Given the description of an element on the screen output the (x, y) to click on. 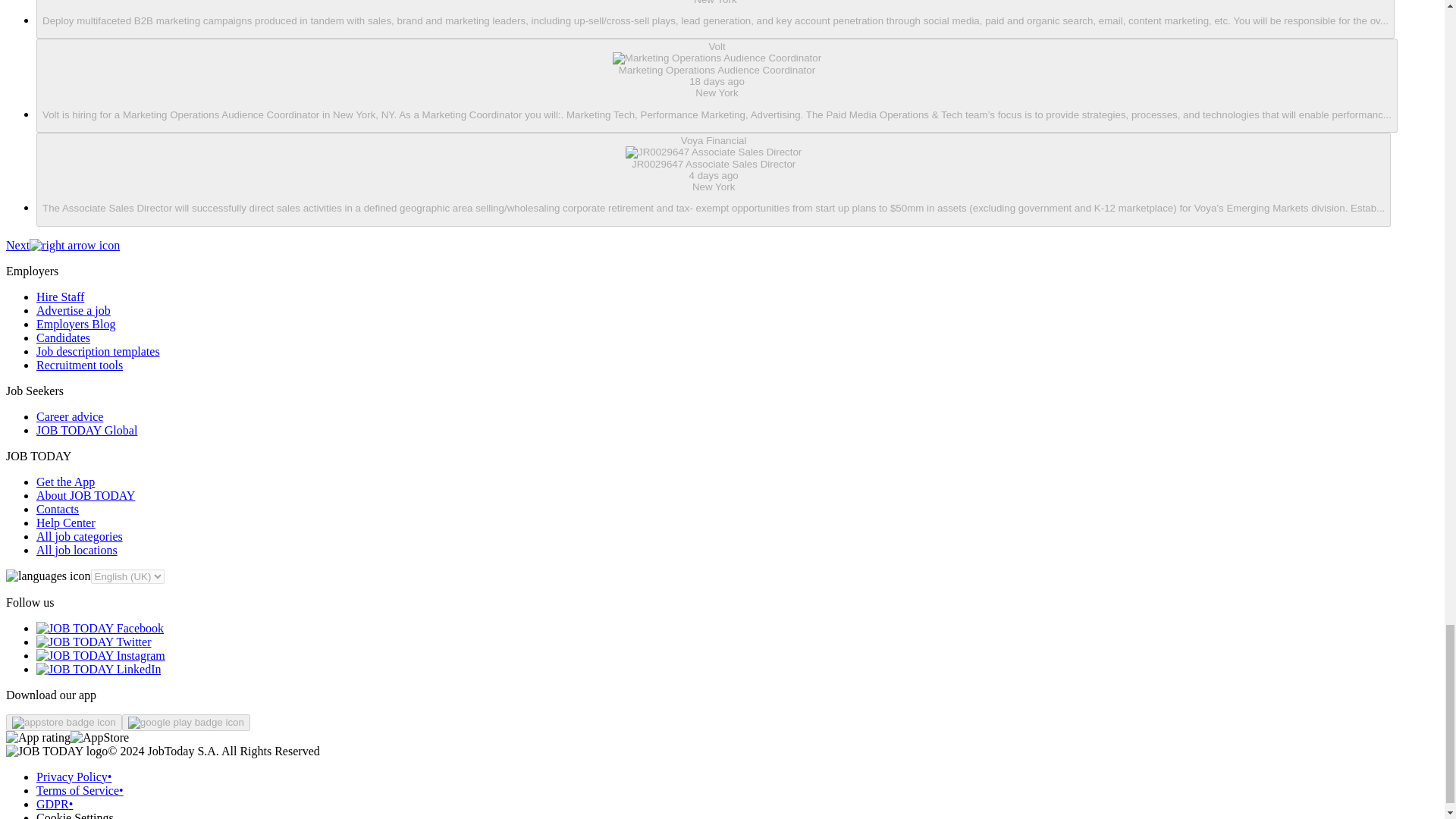
Job description templates (98, 350)
Candidates (63, 337)
JOB TODAY Twitter (93, 641)
Hire Staff (60, 296)
JOB TODAY Facebook (99, 627)
JOB TODAY LinkedIn (98, 668)
JOB TODAY Instagram (100, 655)
Next (62, 245)
Career advice (69, 416)
JOB TODAY Android Application (186, 722)
